Given the description of an element on the screen output the (x, y) to click on. 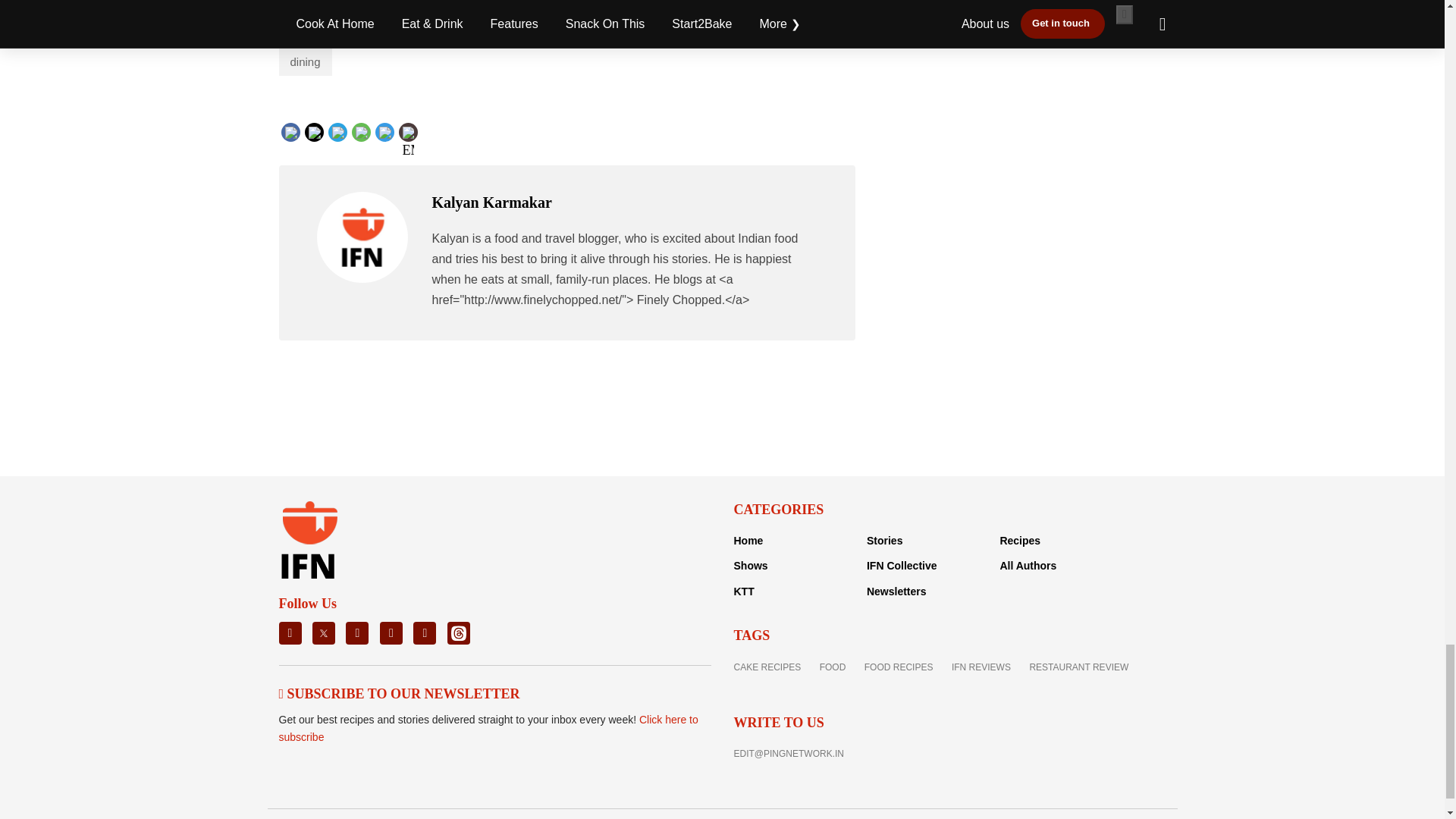
Facebook (321, 130)
facebook (321, 143)
Share by Email (407, 133)
twitter (337, 143)
LinkedIn (363, 130)
whatsapp (390, 143)
telegram (415, 143)
Twitter (338, 130)
linkedin (364, 143)
